Given the description of an element on the screen output the (x, y) to click on. 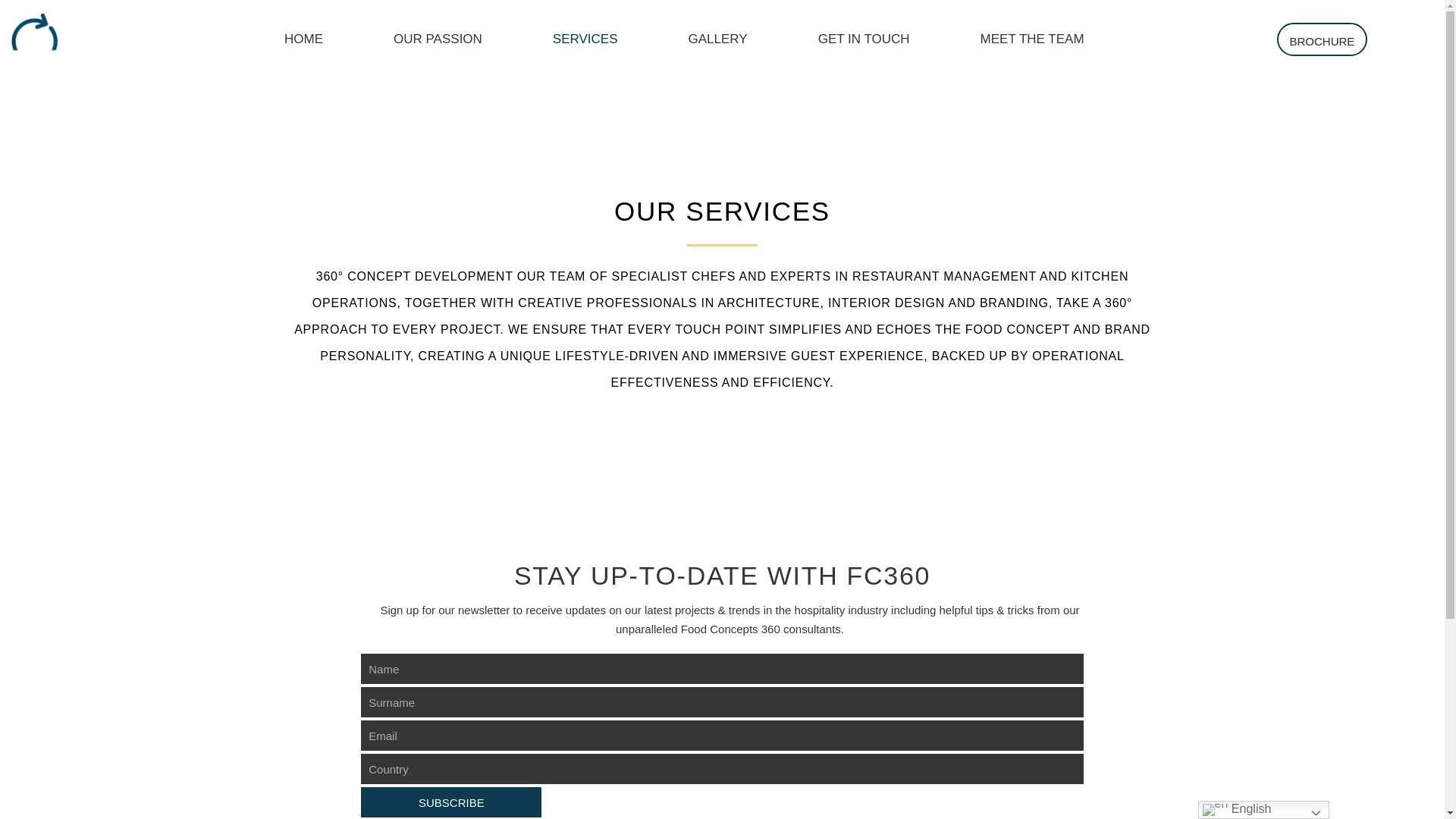
MEET THE TEAM (1032, 38)
OUR PASSION (438, 38)
SERVICES (585, 38)
English (1263, 809)
HOME (303, 38)
GALLERY (718, 38)
BROCHURE (1322, 39)
SUBSCRIBE (451, 802)
GET IN TOUCH (863, 38)
icon (34, 38)
